Given the description of an element on the screen output the (x, y) to click on. 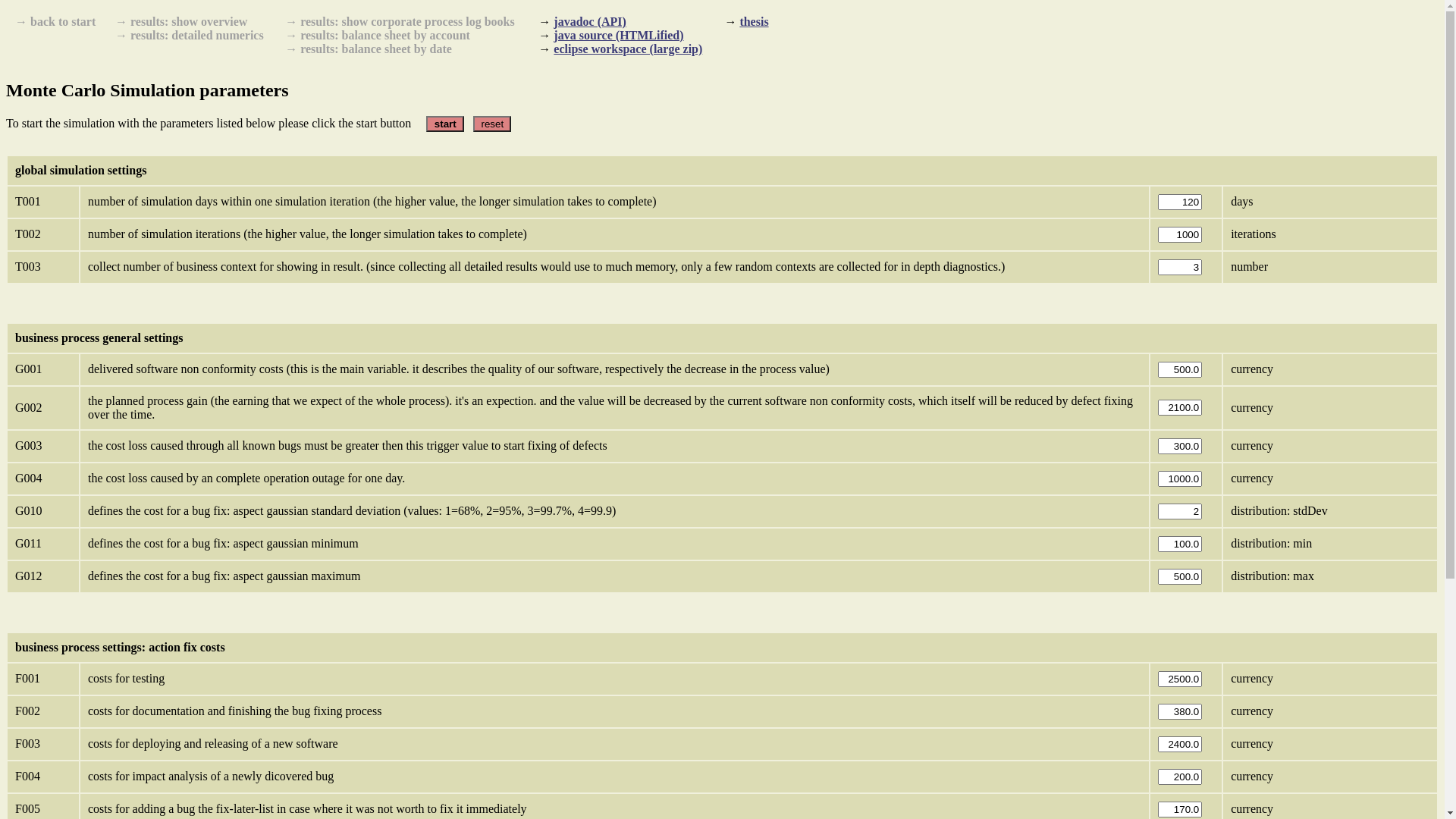
reset Element type: text (492, 123)
eclipse workspace (large zip) Element type: text (627, 48)
start Element type: text (445, 123)
java source (HTMLified) Element type: text (618, 34)
javadoc (API) Element type: text (589, 21)
thesis Element type: text (753, 21)
